Given the description of an element on the screen output the (x, y) to click on. 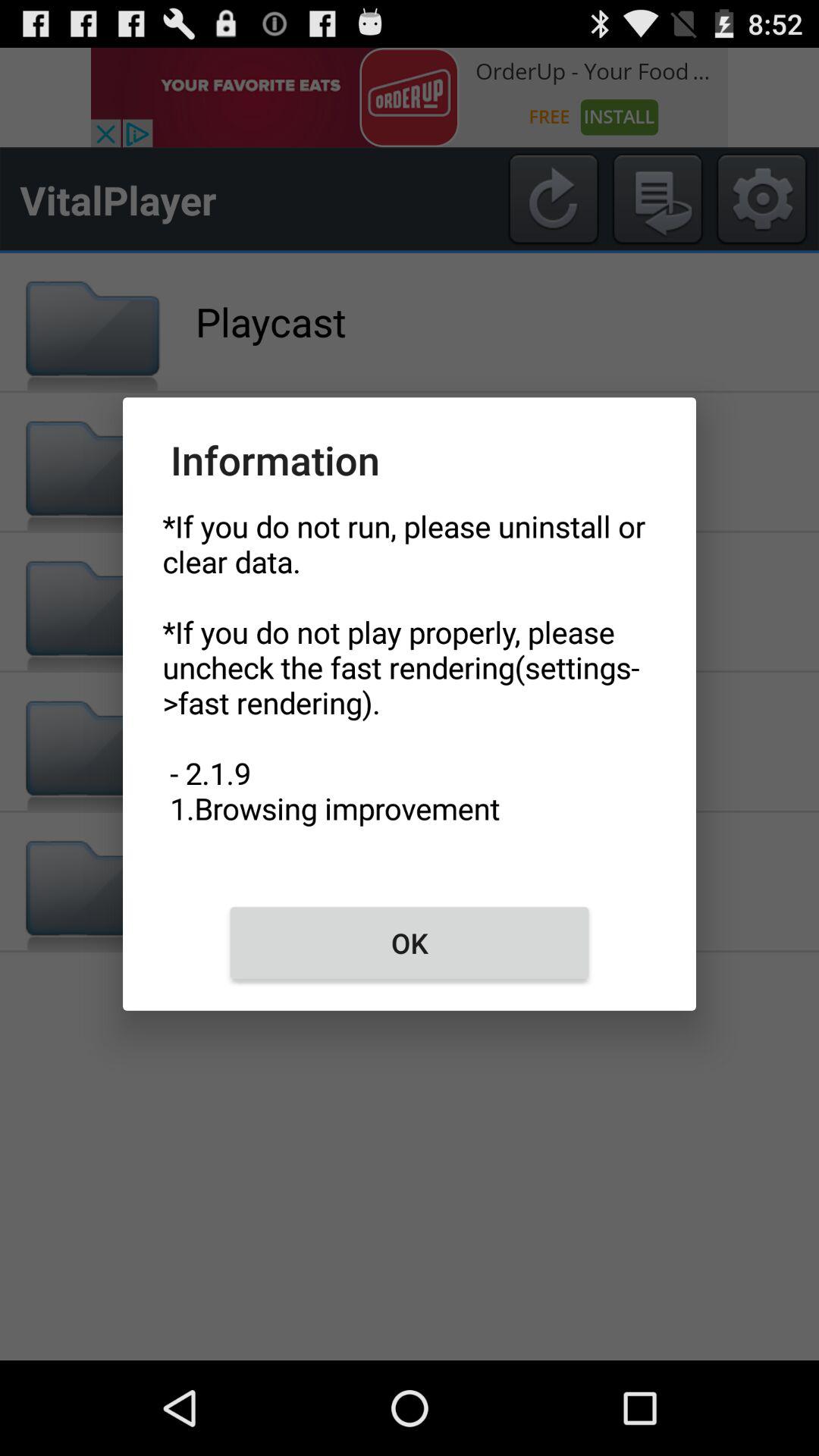
click item below the if you do app (409, 942)
